Given the description of an element on the screen output the (x, y) to click on. 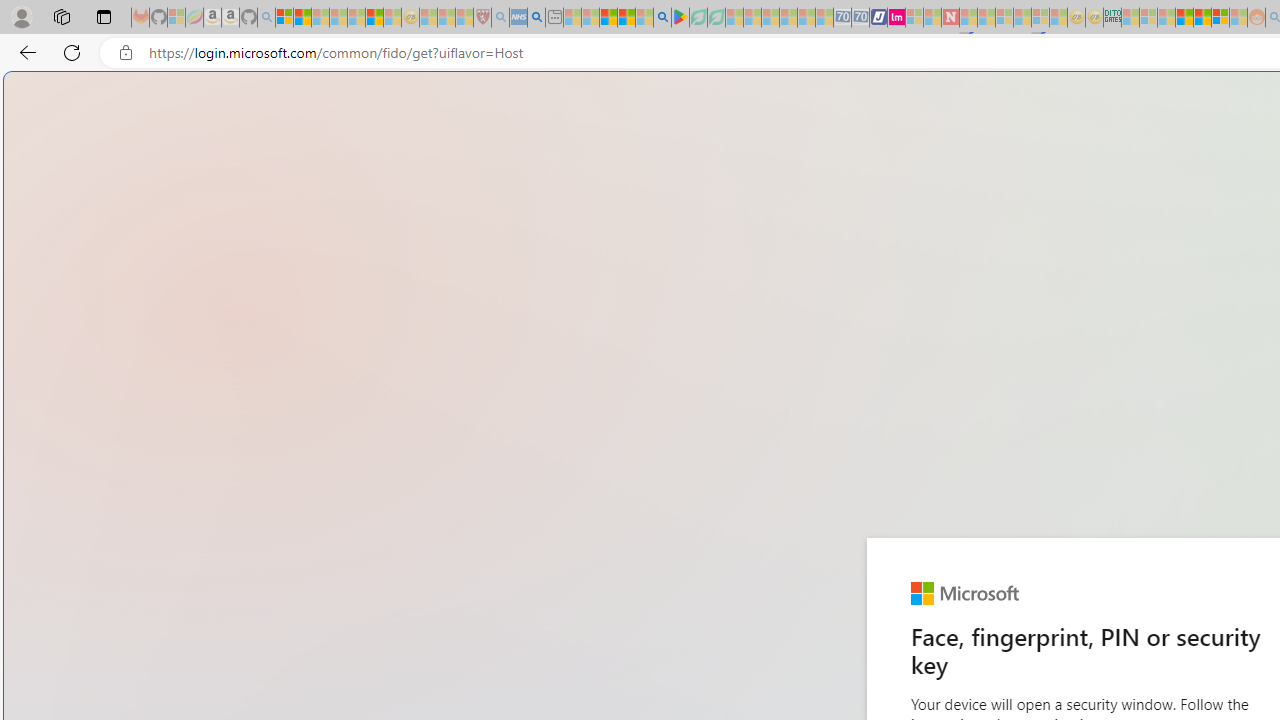
MSNBC - MSN - Sleeping (1130, 17)
Bluey: Let's Play! - Apps on Google Play (680, 17)
Latest Politics News & Archive | Newsweek.com - Sleeping (950, 17)
